Given the description of an element on the screen output the (x, y) to click on. 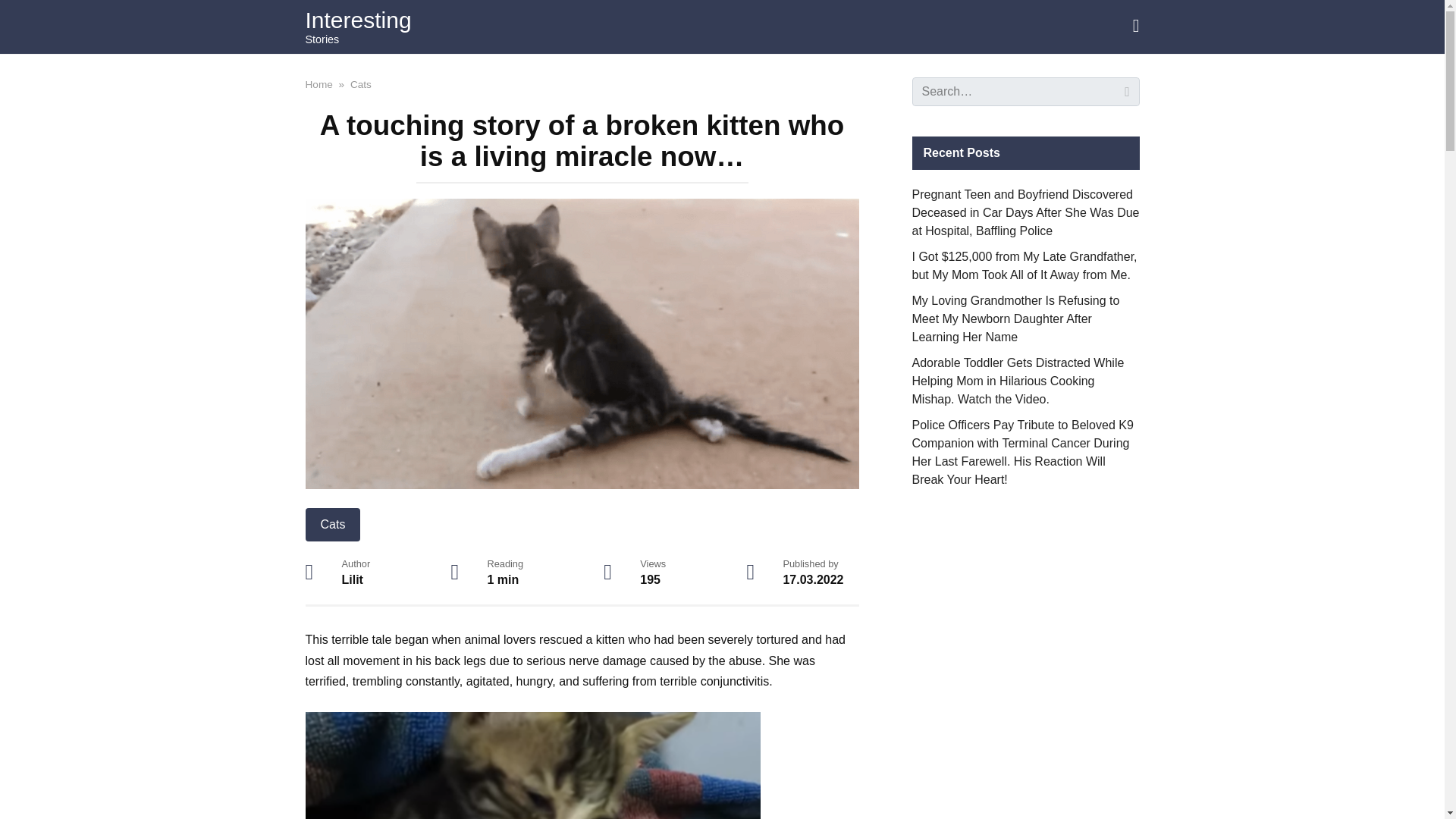
Home (317, 84)
Cats (360, 84)
Cats (331, 524)
Interesting (357, 19)
